Given the description of an element on the screen output the (x, y) to click on. 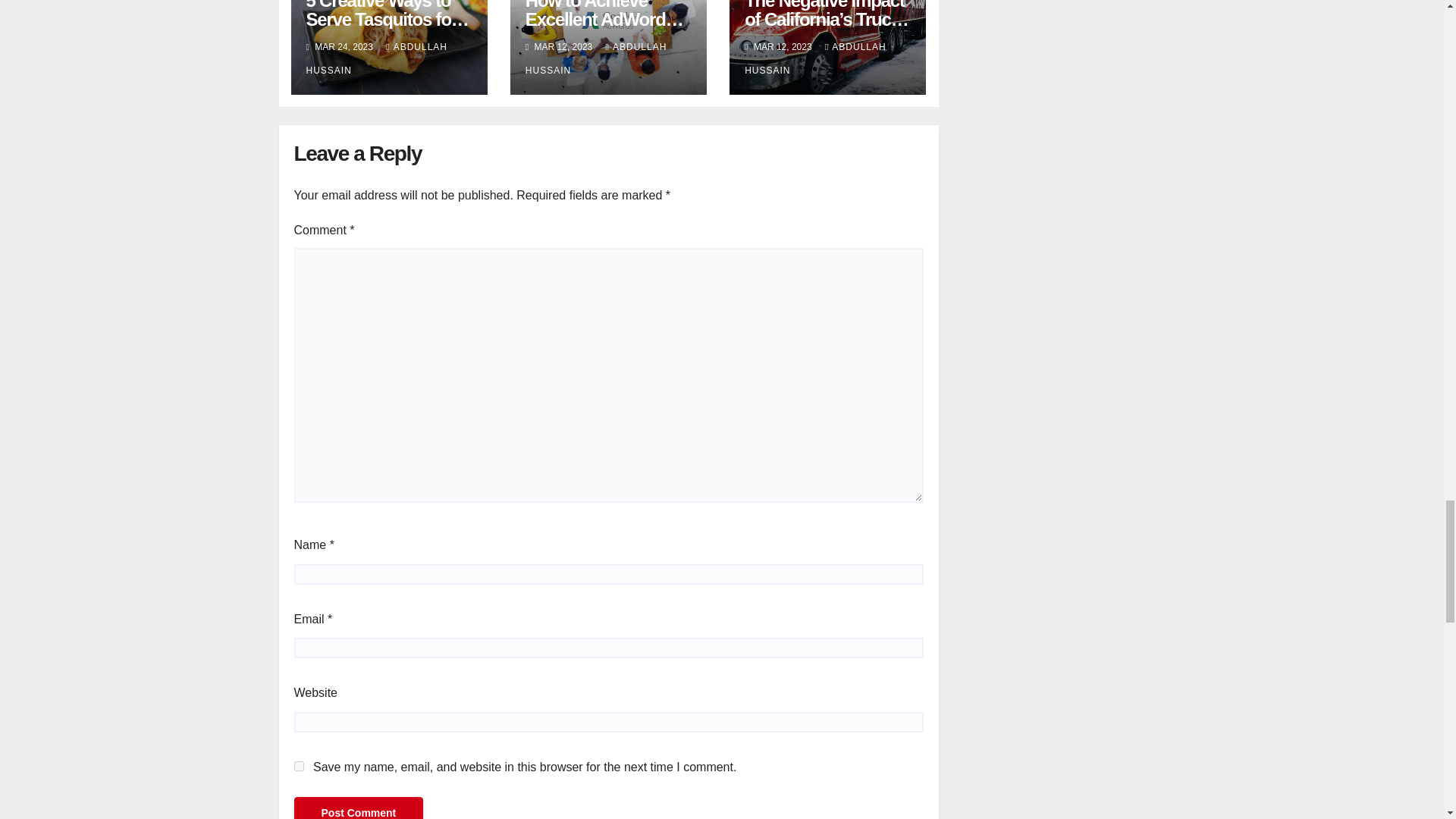
Post Comment (358, 807)
yes (299, 766)
